Given the description of an element on the screen output the (x, y) to click on. 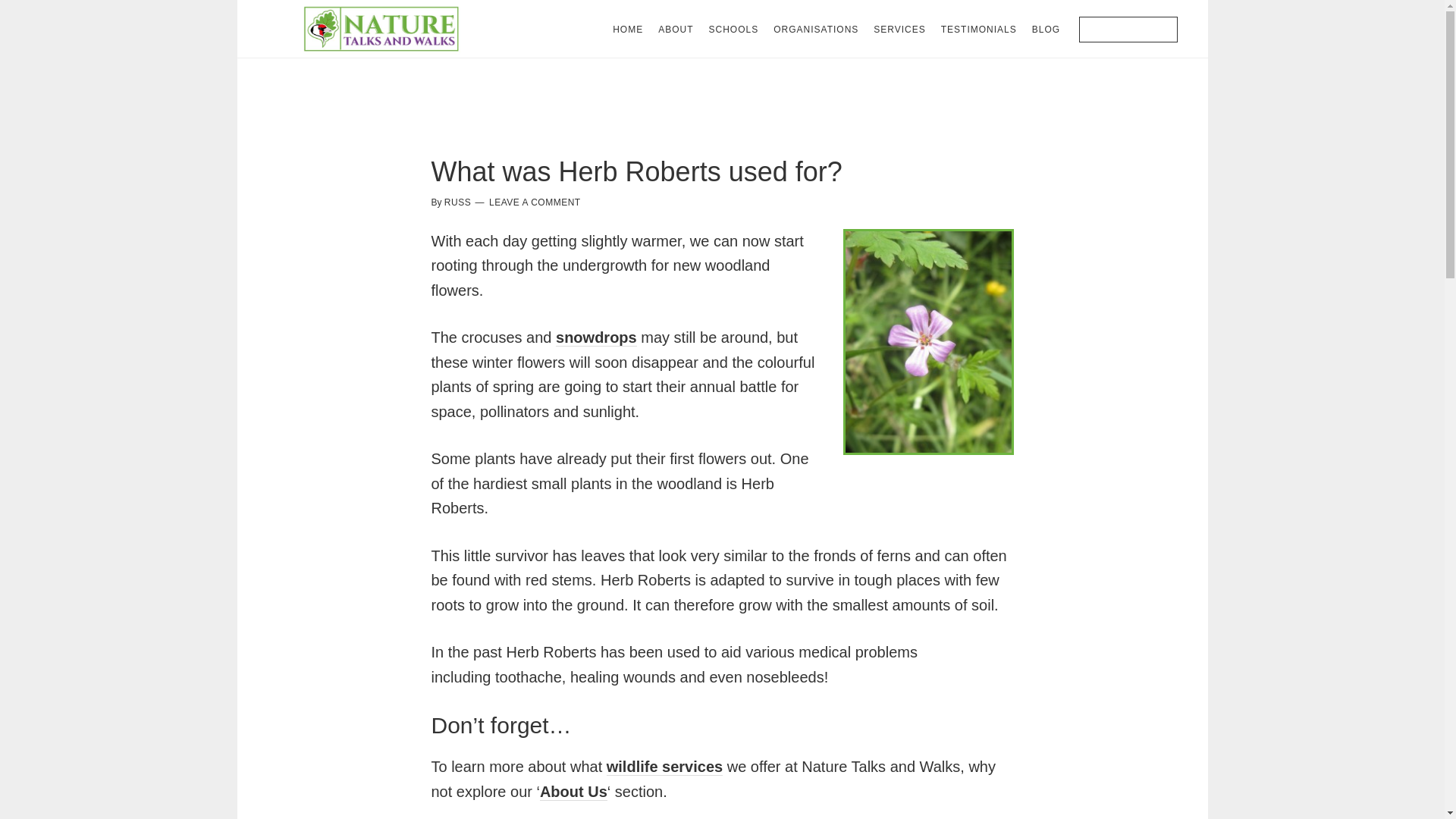
When do snowdrops flower in the UK? (596, 337)
SCHOOLS (732, 29)
SERVICES (899, 29)
HOME (627, 29)
ABOUT (675, 29)
ORGANISATIONS (815, 29)
NATURE TALKS AND WALKS (380, 28)
Nature Talks and Walks Services (664, 766)
About Nature Talks and Walks (573, 791)
